Given the description of an element on the screen output the (x, y) to click on. 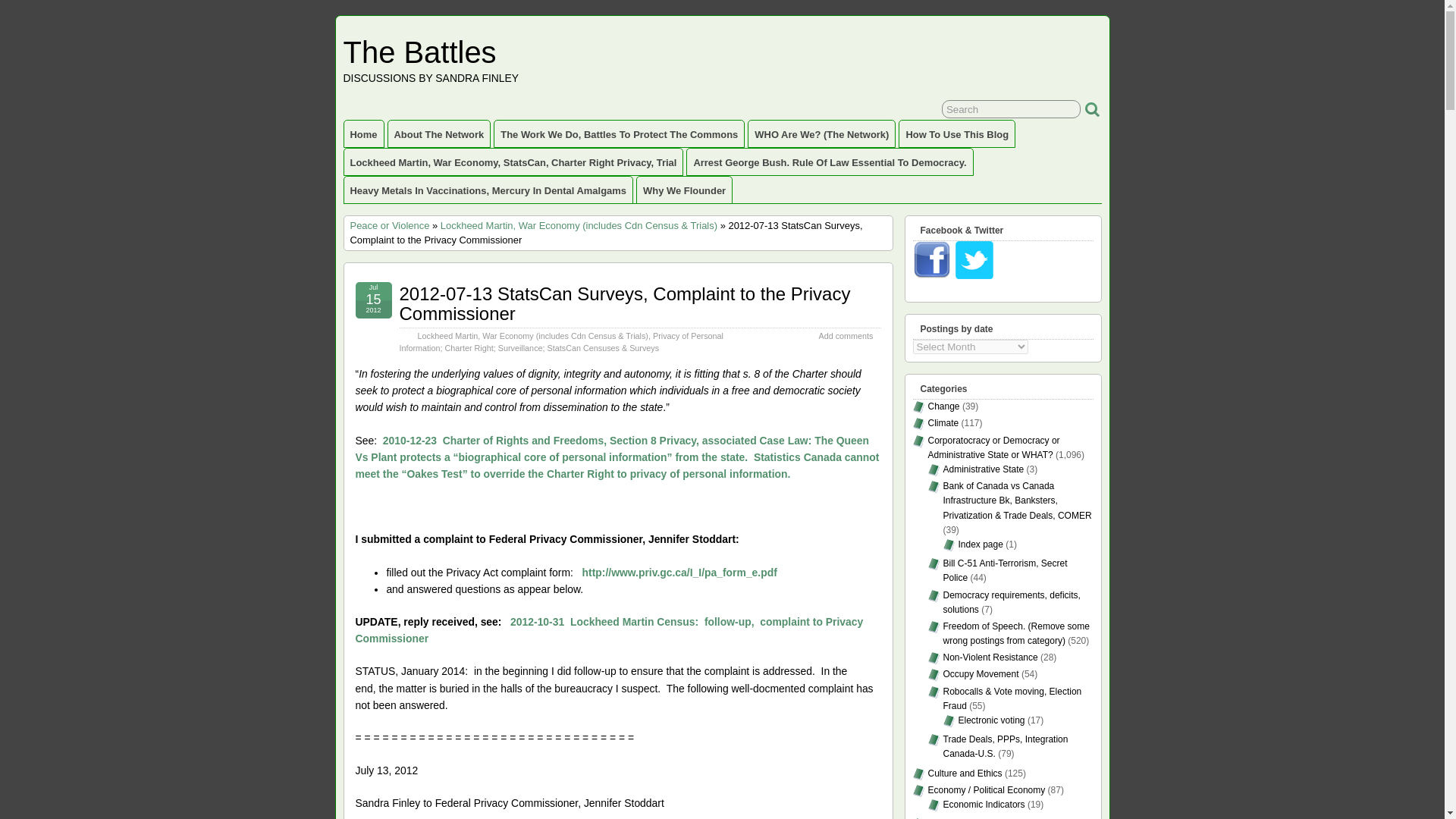
Peace or Violence (389, 225)
Add comments (845, 334)
How To Use This Blog (956, 133)
About The Network (439, 133)
Home (363, 133)
Peace or Violence (389, 225)
Search (1011, 108)
